Given the description of an element on the screen output the (x, y) to click on. 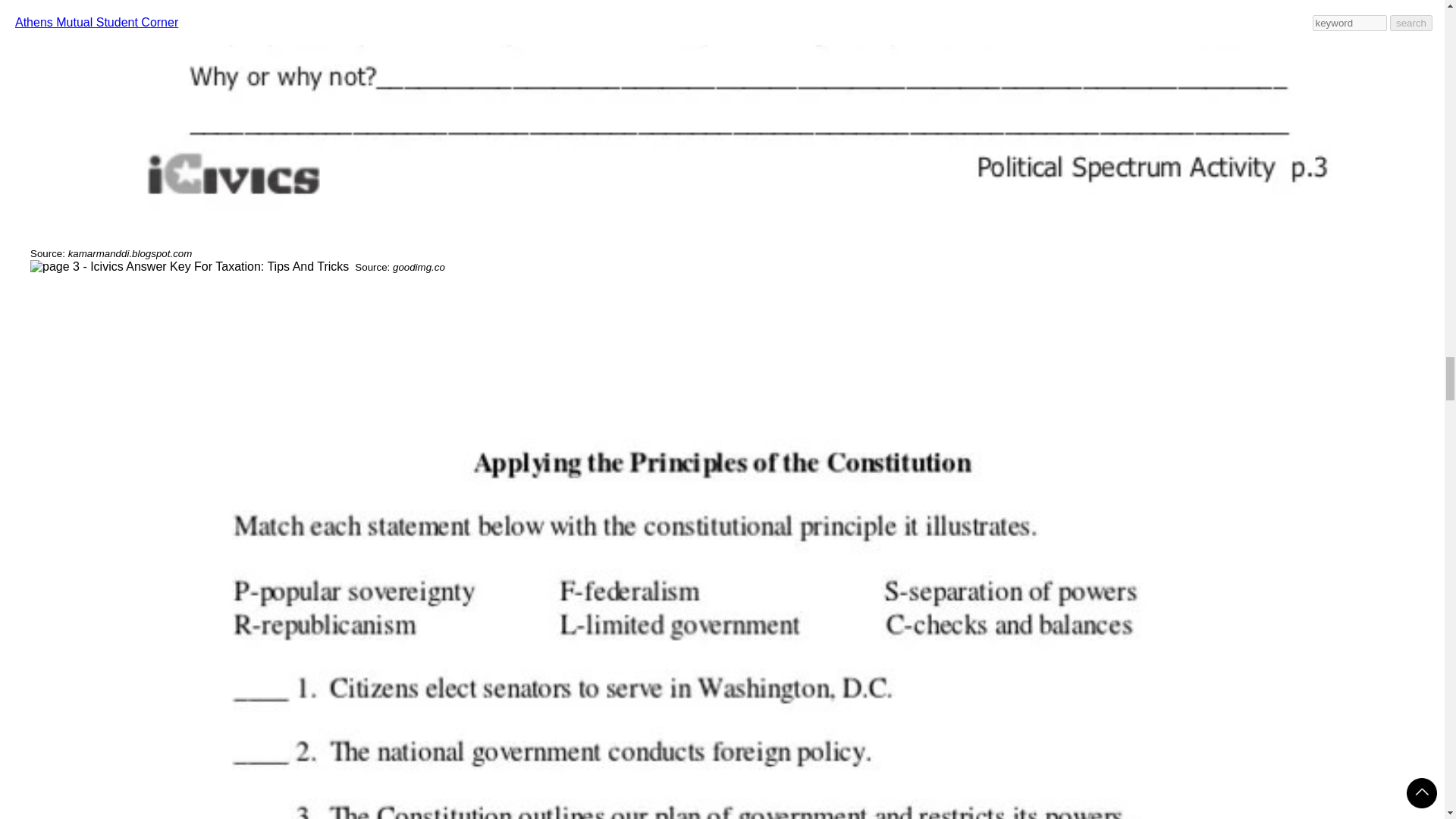
Icivics Answer Key For Taxation: Tips And Tricks (189, 266)
